Given the description of an element on the screen output the (x, y) to click on. 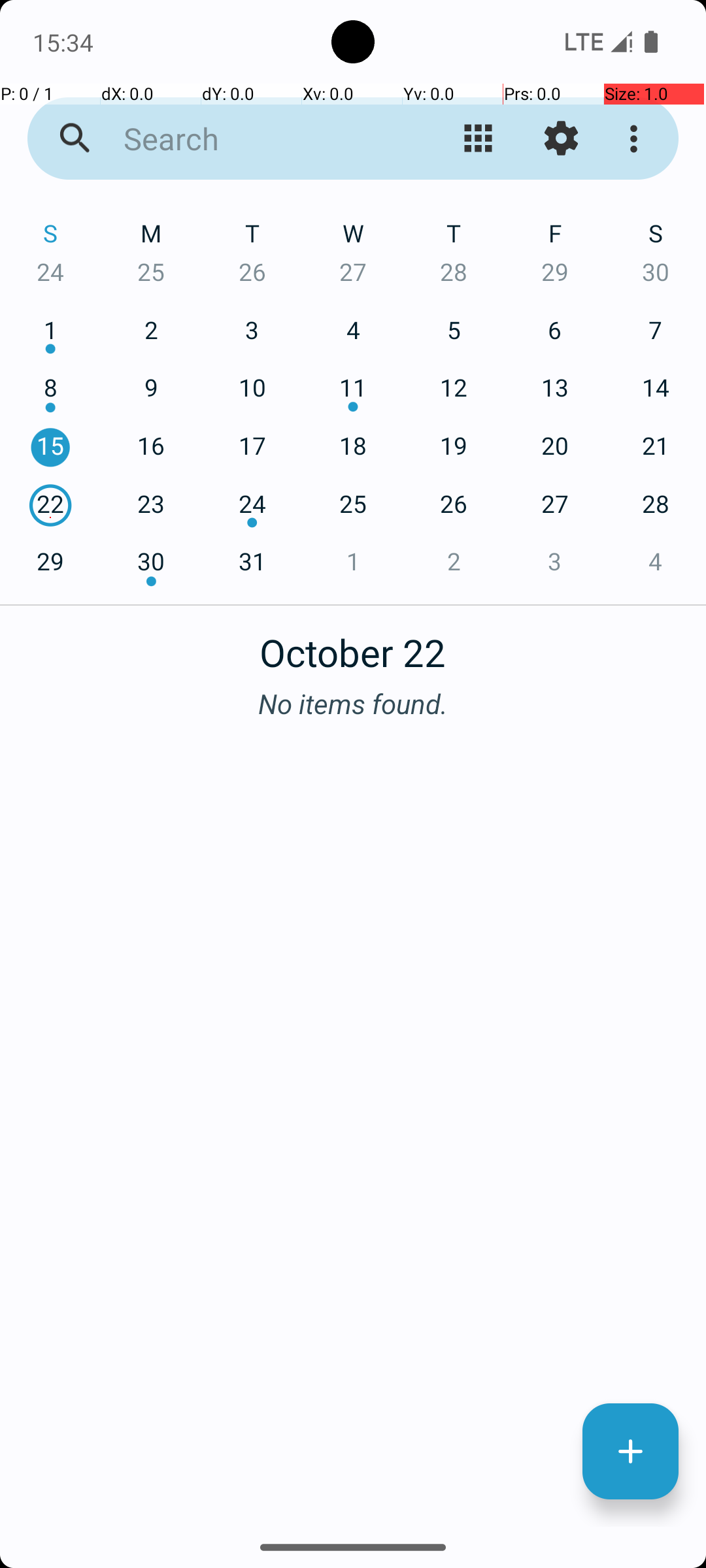
October 22 Element type: android.widget.TextView (352, 644)
